Given the description of an element on the screen output the (x, y) to click on. 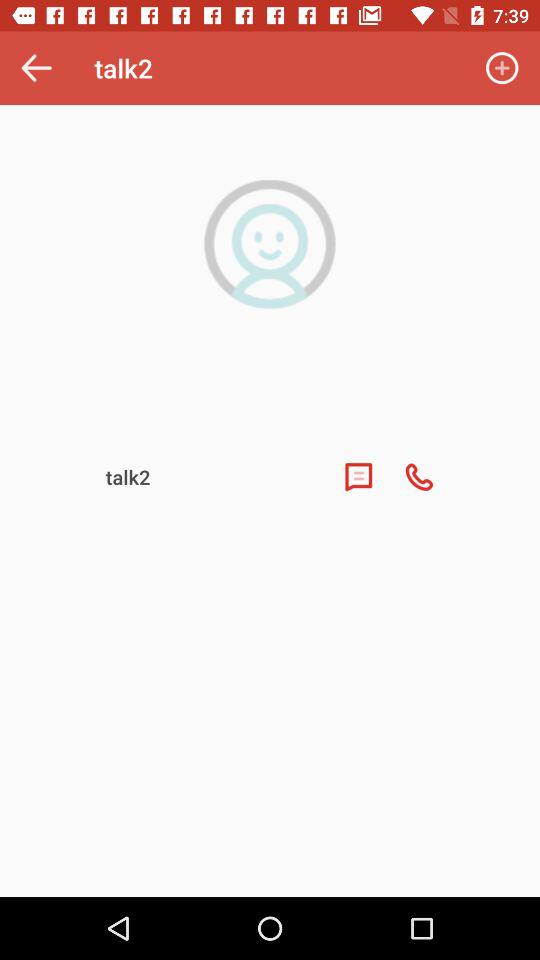
go to message (358, 477)
